Given the description of an element on the screen output the (x, y) to click on. 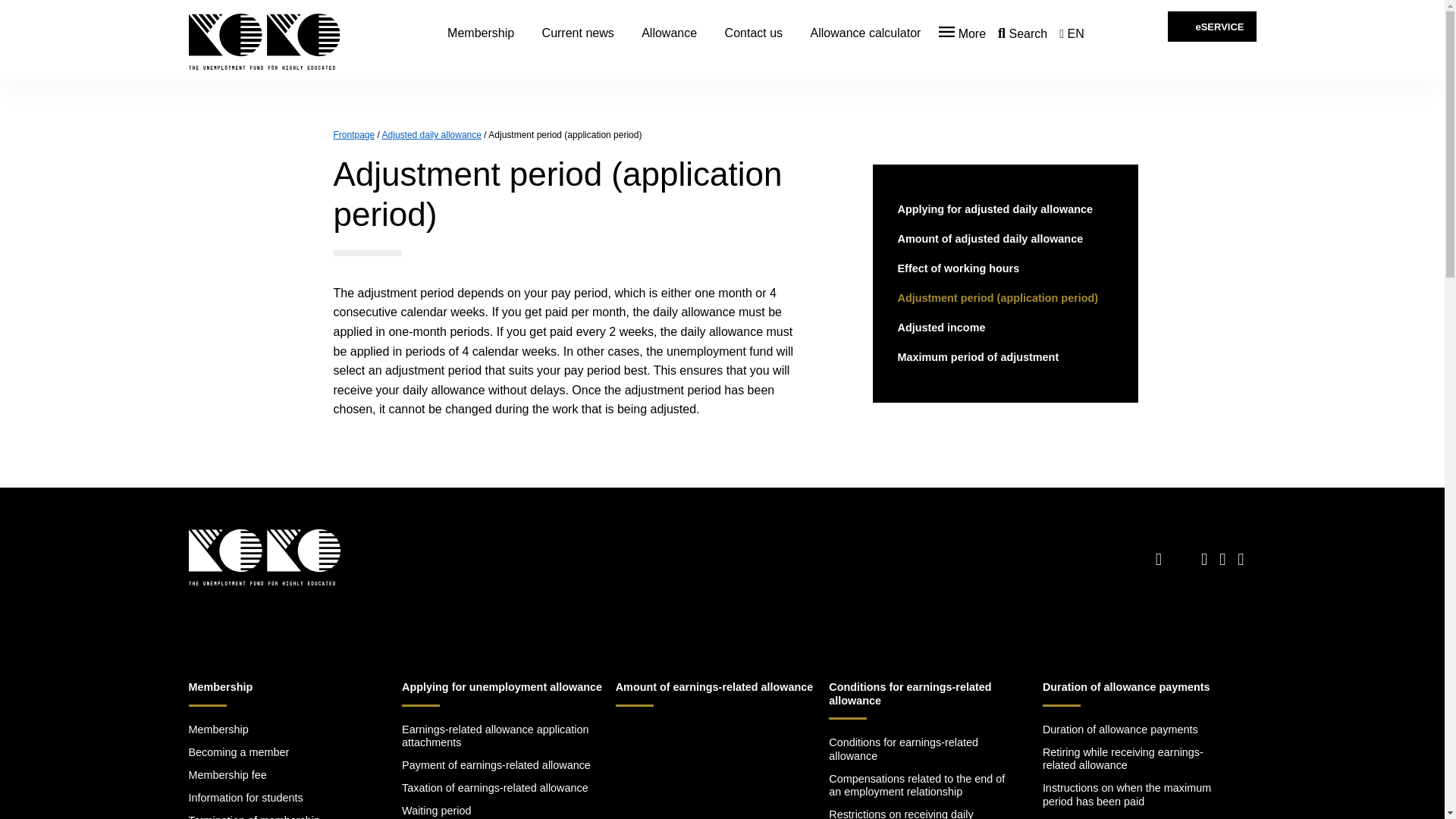
Allowance (962, 32)
Contact us (668, 32)
Allowance calculator (753, 32)
KOKO (865, 32)
Current news (263, 560)
KOKO (577, 32)
Membership (267, 44)
